Given the description of an element on the screen output the (x, y) to click on. 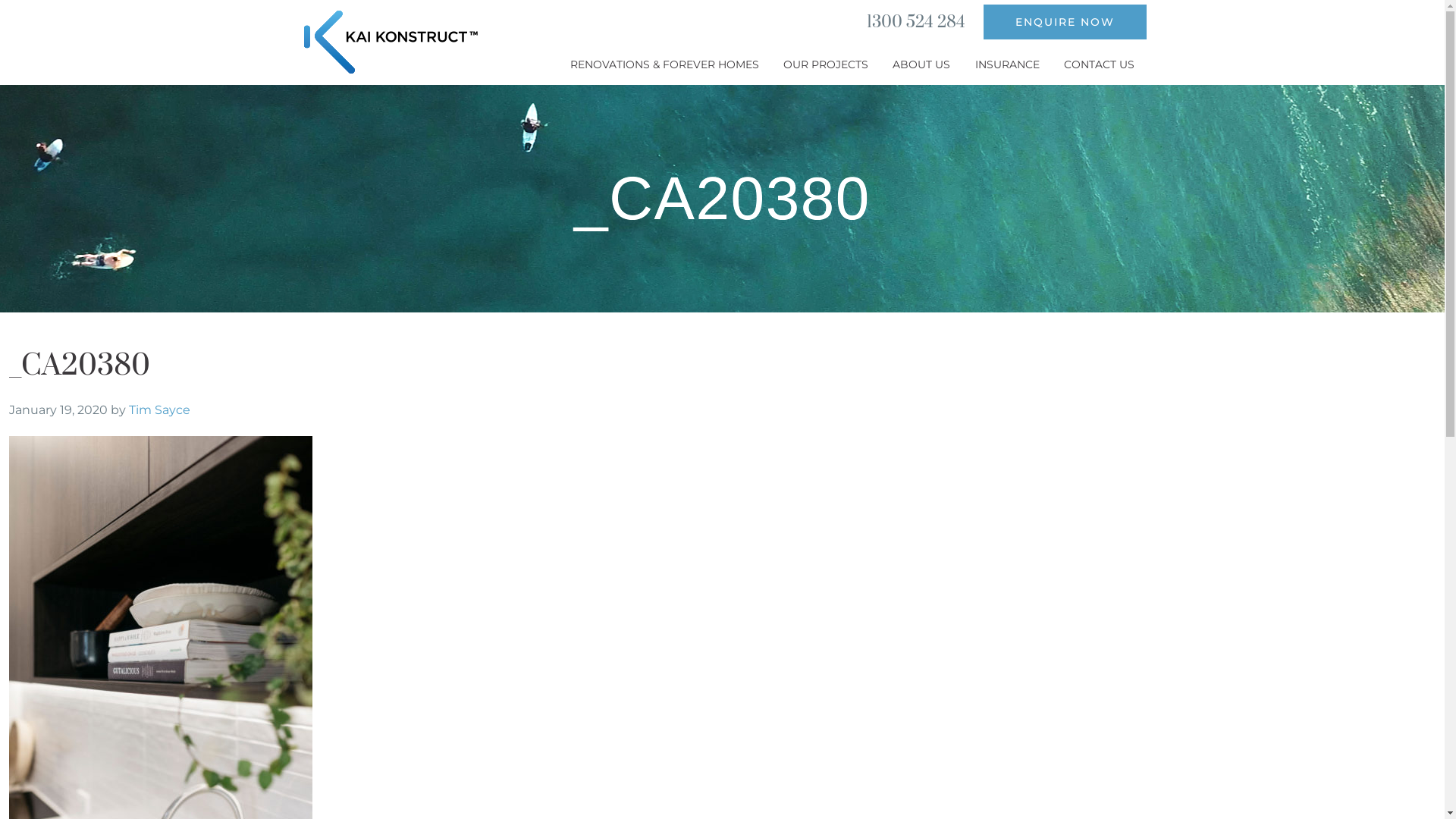
Skip to primary navigation Element type: text (294, 0)
1300 524 284 Element type: text (915, 22)
ABOUT US Element type: text (921, 64)
RENOVATIONS & FOREVER HOMES Element type: text (664, 64)
OUR PROJECTS Element type: text (825, 64)
Tim Sayce Element type: text (159, 409)
CONTACT US Element type: text (1098, 64)
INSURANCE Element type: text (1006, 64)
ENQUIRE NOW Element type: text (1063, 21)
Kai Konstruct Element type: text (390, 41)
